Given the description of an element on the screen output the (x, y) to click on. 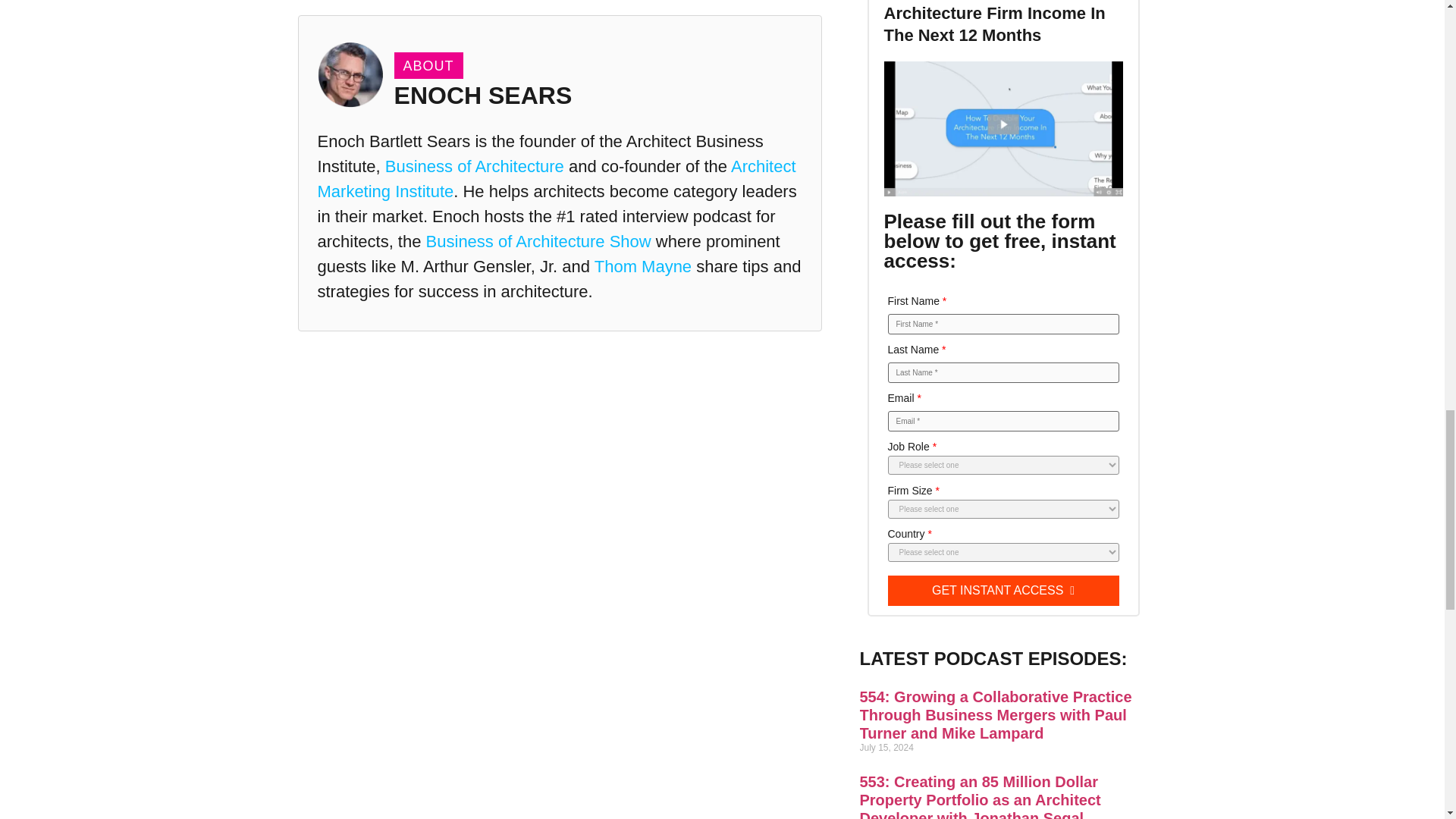
Business of Architecture (474, 166)
Architect Marketing Institute (555, 178)
GET INSTANT ACCESS   (1002, 590)
Thom Mayne (642, 266)
Business of Architecture Show (538, 240)
